Given the description of an element on the screen output the (x, y) to click on. 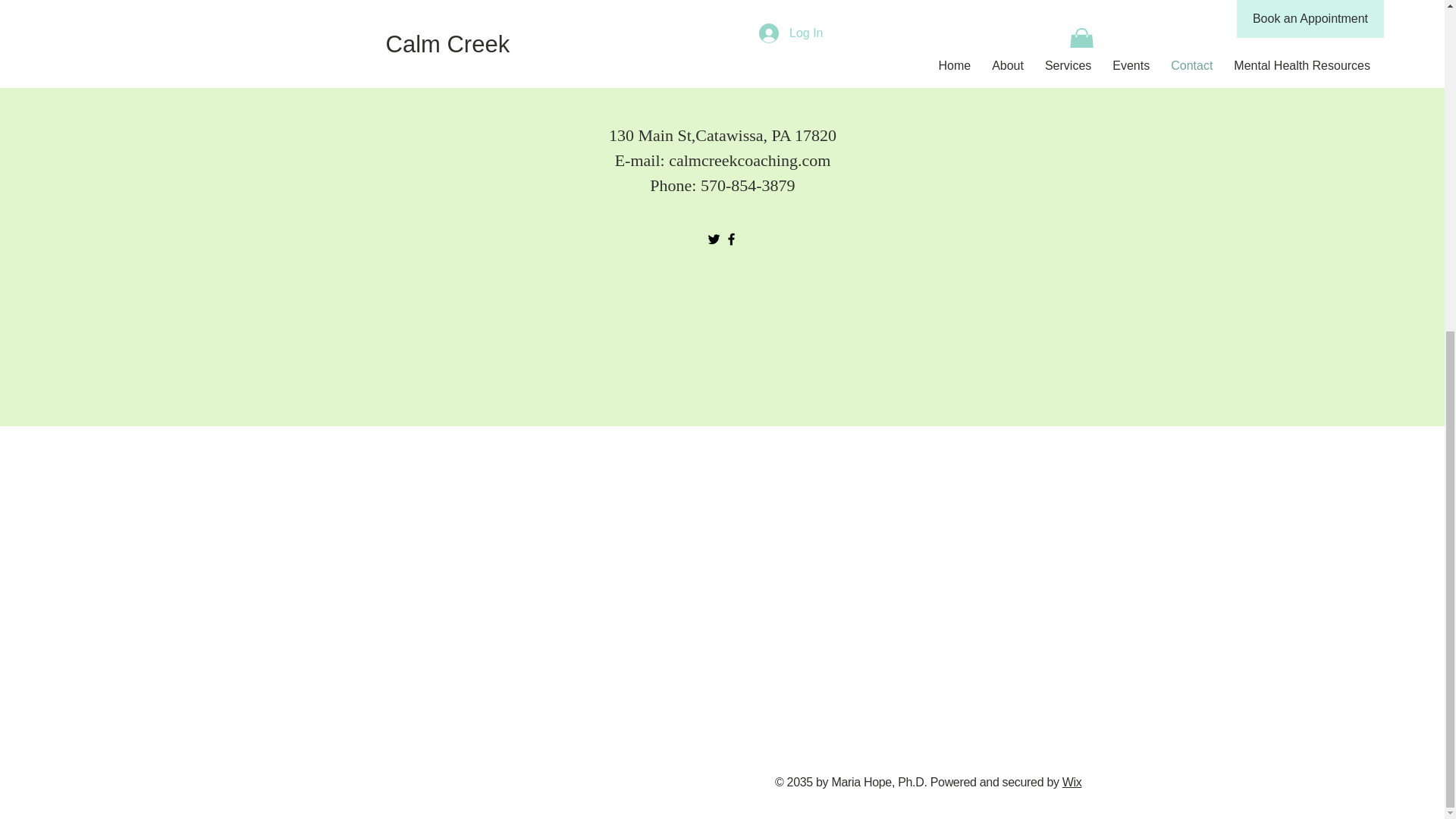
Wix (1071, 781)
Send (722, 39)
